Given the description of an element on the screen output the (x, y) to click on. 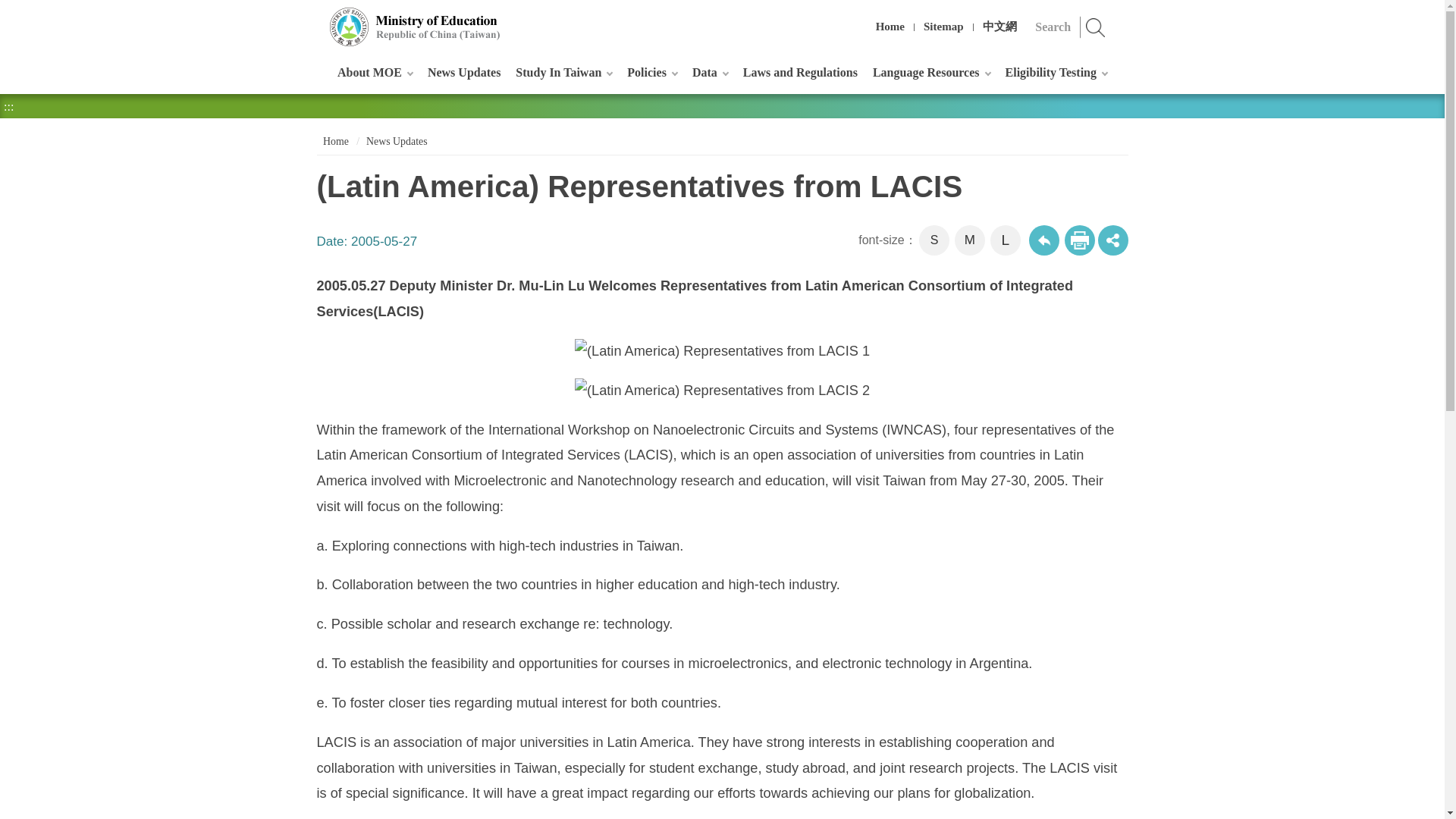
search (1096, 26)
Sitemap (943, 26)
Language Resources (930, 72)
::: (313, 18)
News Updates (464, 72)
header (313, 18)
Data (709, 72)
Laws and Regulations (799, 72)
Sitemap (943, 26)
Home (890, 26)
search (1096, 26)
About MOE (375, 72)
Policies (651, 72)
News Updates (464, 72)
Home (890, 26)
